Given the description of an element on the screen output the (x, y) to click on. 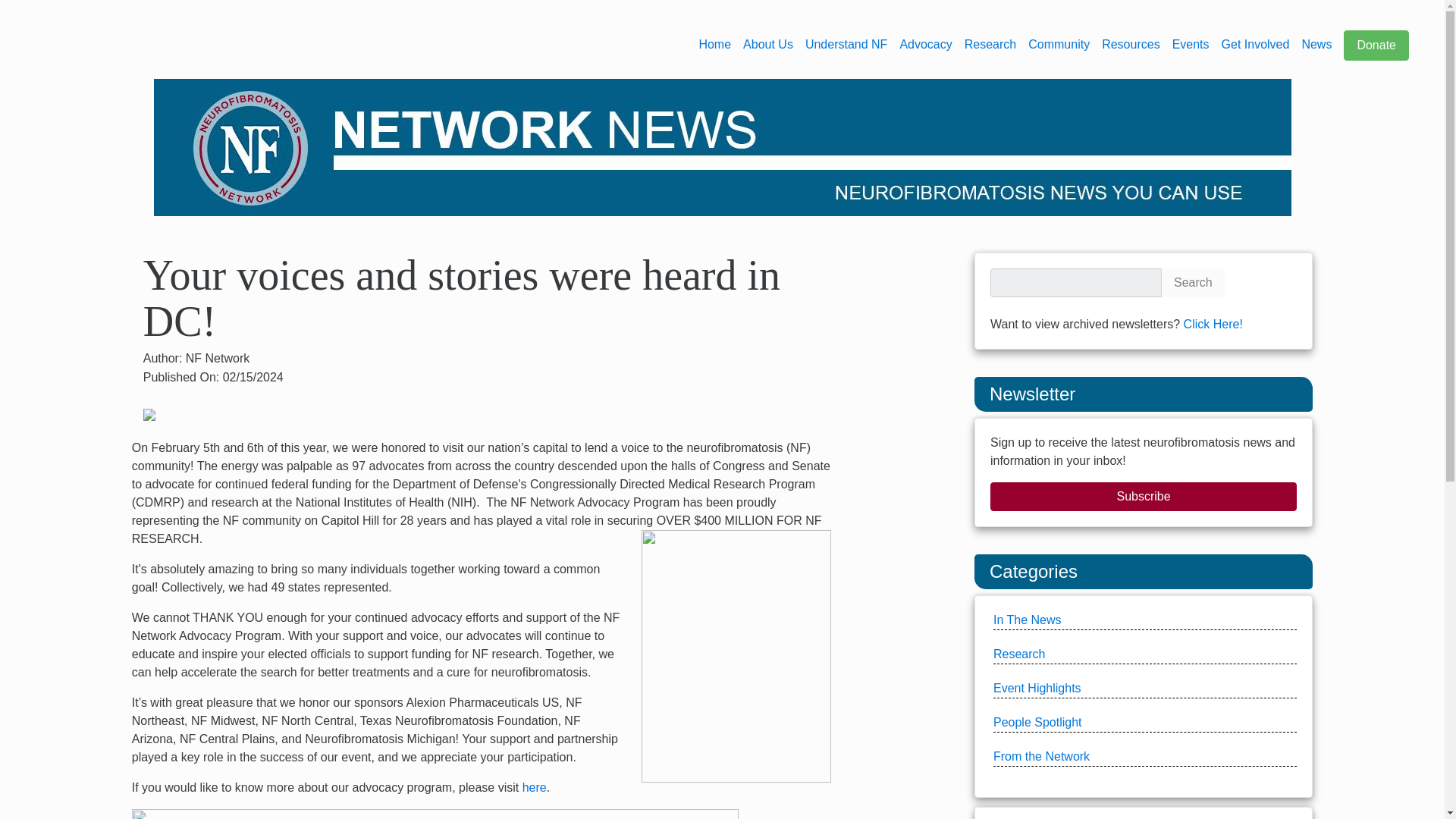
About Us (767, 44)
Research (989, 44)
Community (1058, 44)
Search (1192, 282)
Search (1192, 282)
Resources (1130, 44)
Advocacy (925, 44)
Events (1190, 44)
About Us (767, 44)
Home (714, 44)
Understand NF (846, 44)
Home (714, 44)
Advocacy (925, 44)
Research (989, 44)
Understand NF (846, 44)
